Given the description of an element on the screen output the (x, y) to click on. 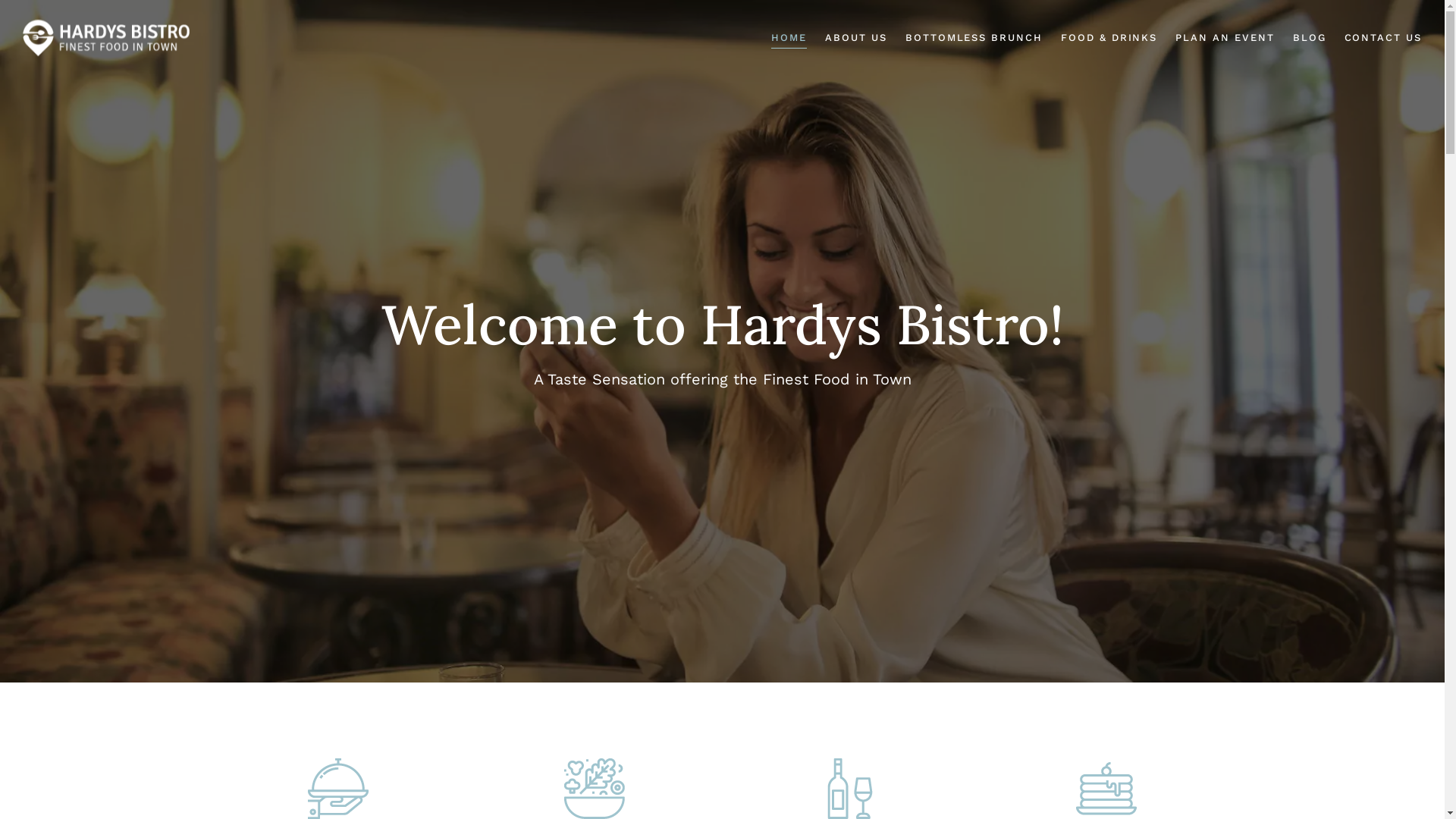
CONTACT US Element type: text (1382, 37)
BOTTOMLESS BRUNCH Element type: text (973, 37)
BLOG Element type: text (1309, 37)
ABOUT US Element type: text (856, 37)
HOME Element type: text (788, 37)
FOOD & DRINKS Element type: text (1108, 37)
PLAN AN EVENT Element type: text (1224, 37)
